Given the description of an element on the screen output the (x, y) to click on. 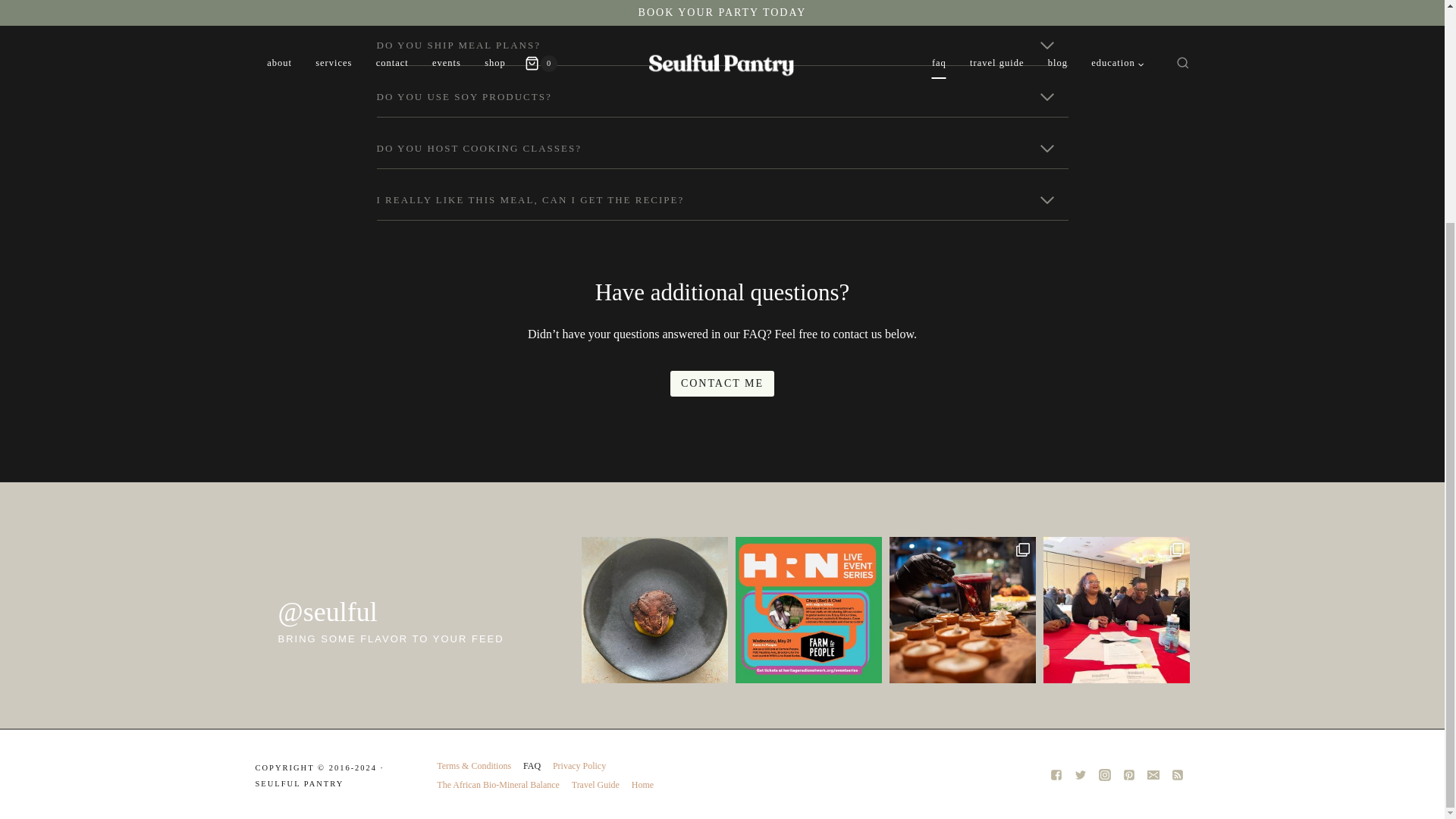
Privacy Policy (579, 765)
I REALLY LIKE THIS MEAL, CAN I GET THE RECIPE? (721, 200)
CONTACT ME (721, 383)
DO YOU SHIP MEAL PLANS? (721, 45)
WHAT DOES SEULFUL MEAN? (721, 7)
DO YOU USE SOY PRODUCTS? (721, 96)
The African Bio-Mineral Balance (497, 784)
FAQ (531, 765)
DO YOU HOST COOKING CLASSES? (721, 148)
